Given the description of an element on the screen output the (x, y) to click on. 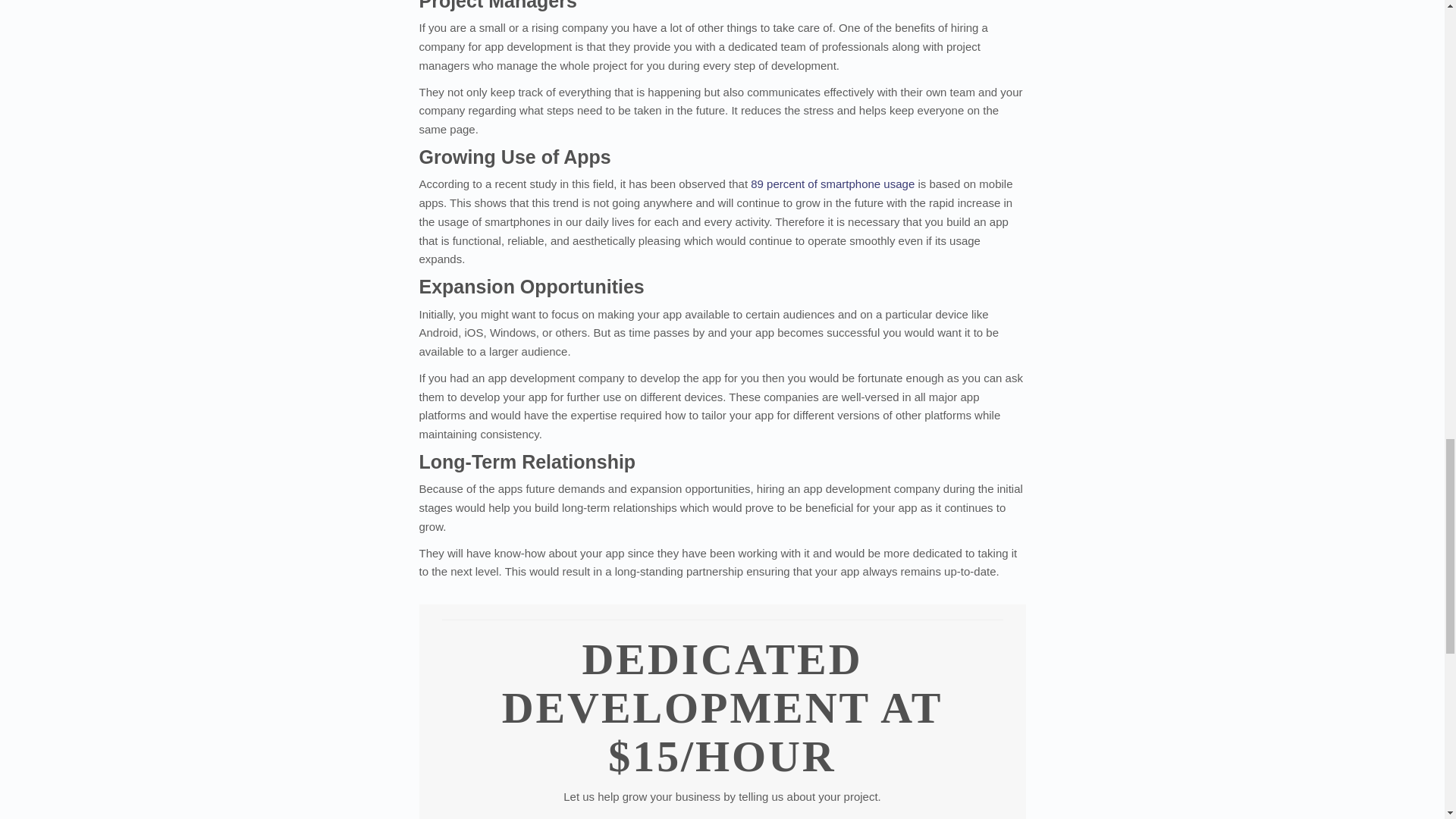
89 percent of smartphone usage (832, 183)
REQUEST A FREE QUOTE (511, 817)
